Given the description of an element on the screen output the (x, y) to click on. 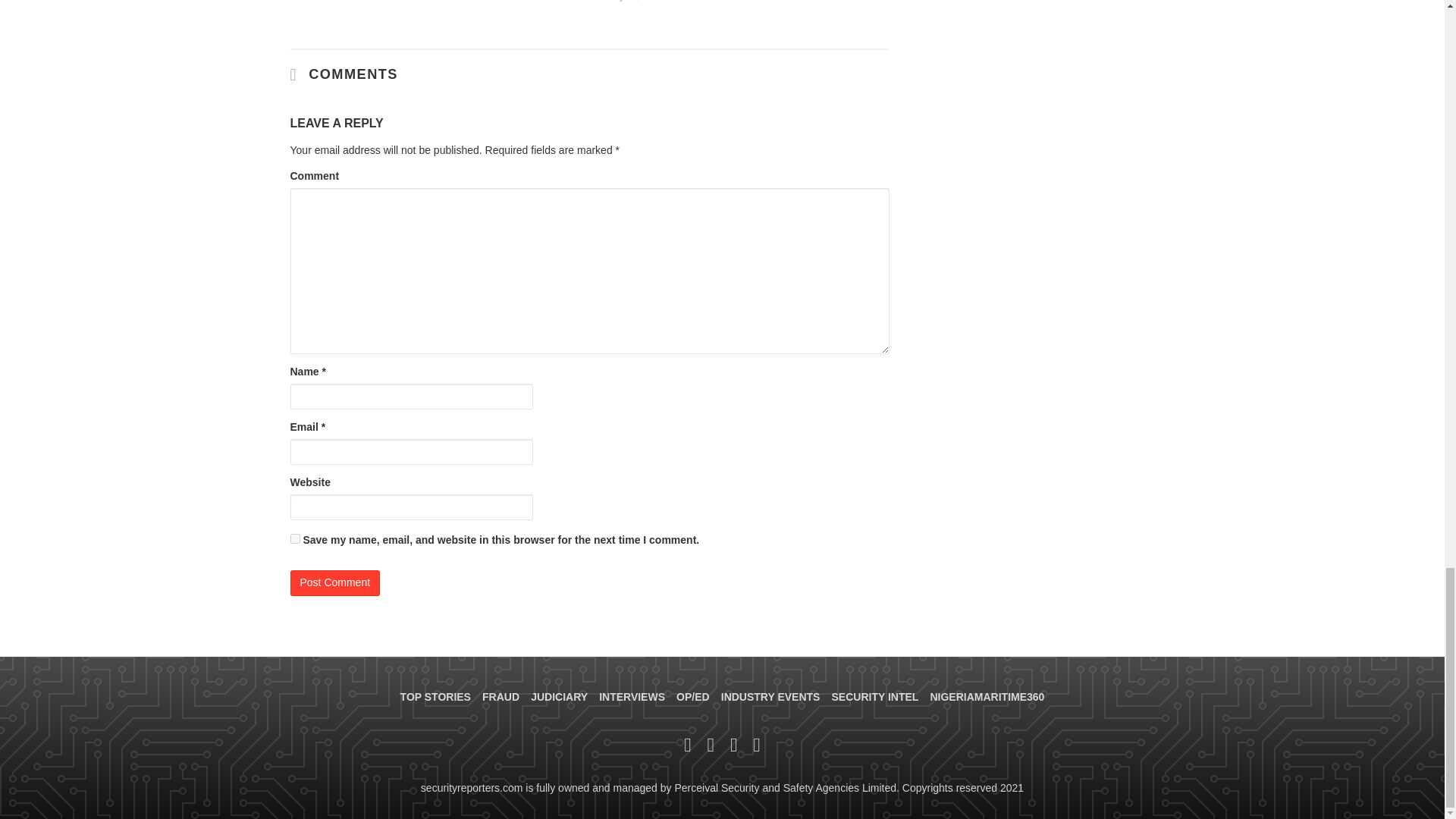
Post Comment (334, 583)
yes (294, 538)
May 19, 2024 at 12:01 am (630, 0)
